Given the description of an element on the screen output the (x, y) to click on. 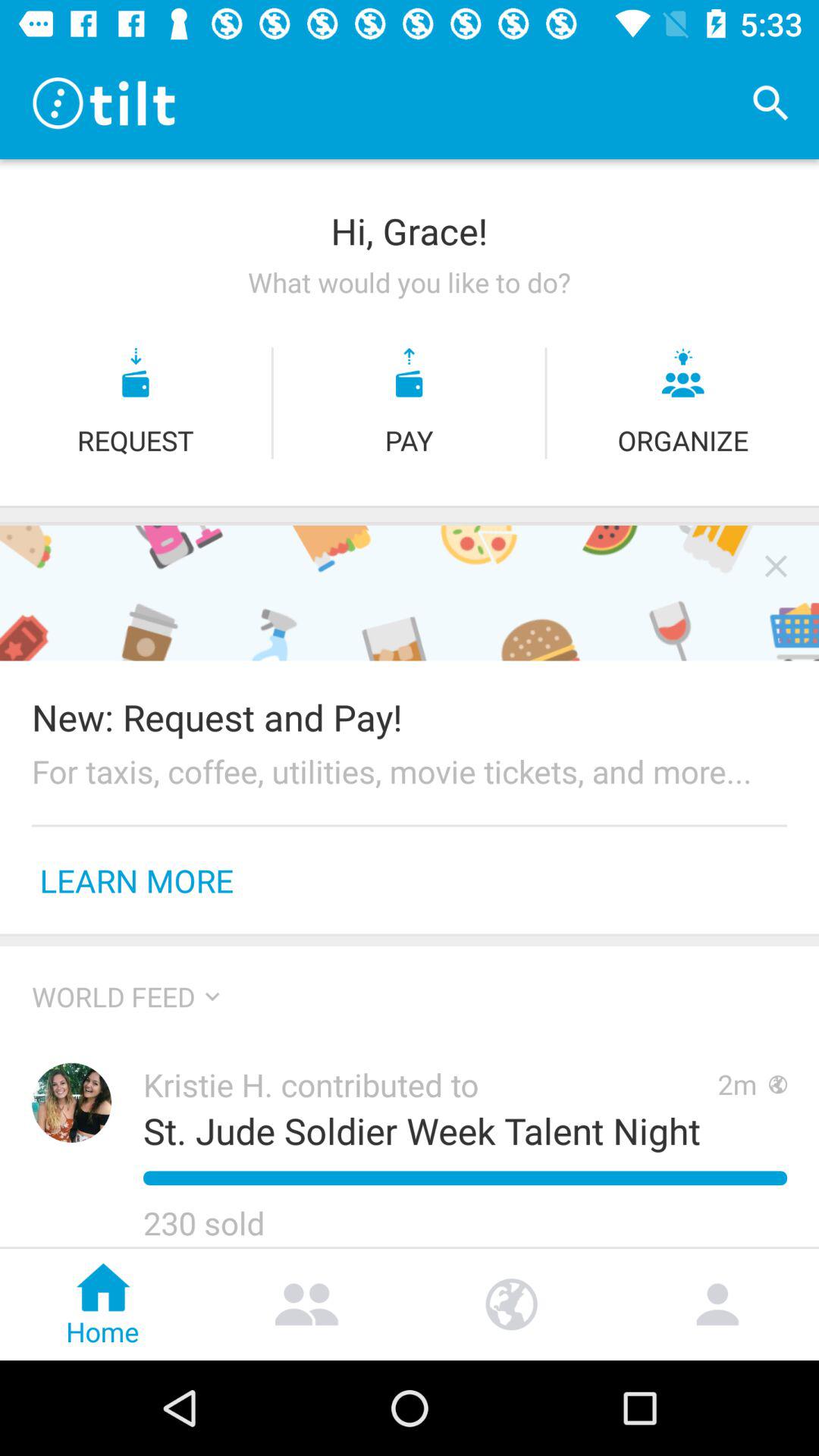
open the item below world feed (71, 1102)
